Given the description of an element on the screen output the (x, y) to click on. 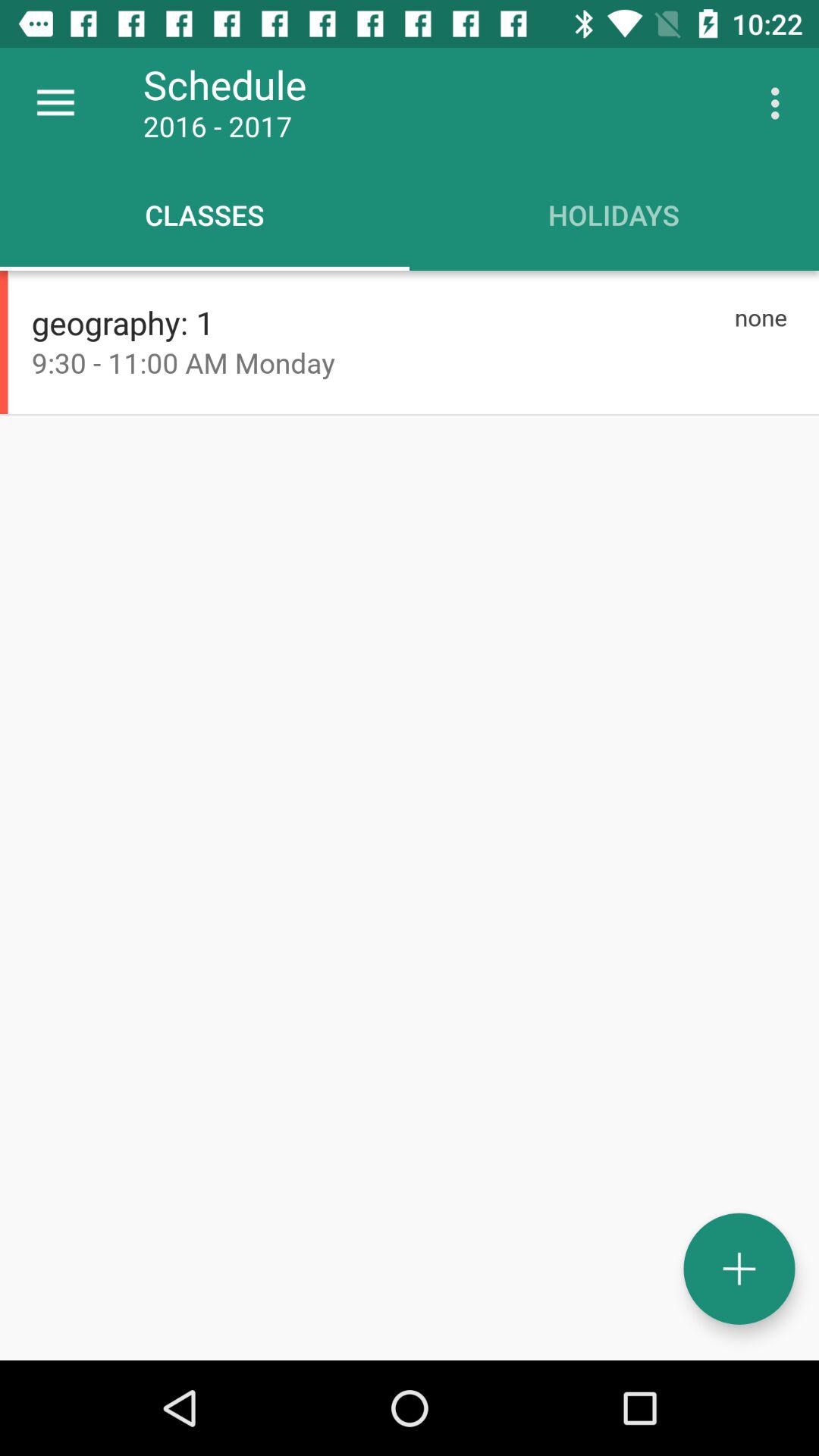
add event (739, 1268)
